Given the description of an element on the screen output the (x, y) to click on. 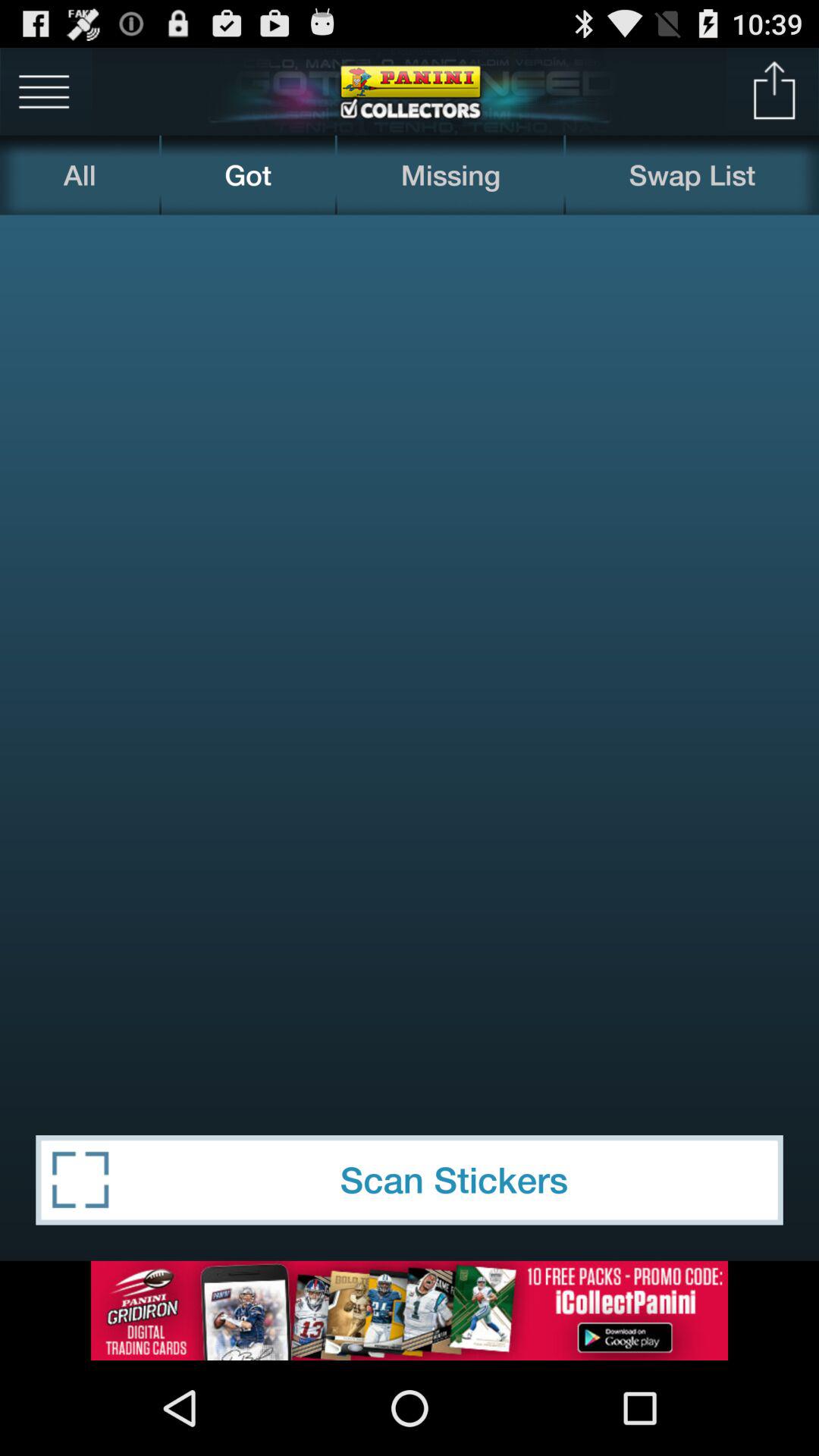
open the got icon (247, 174)
